Given the description of an element on the screen output the (x, y) to click on. 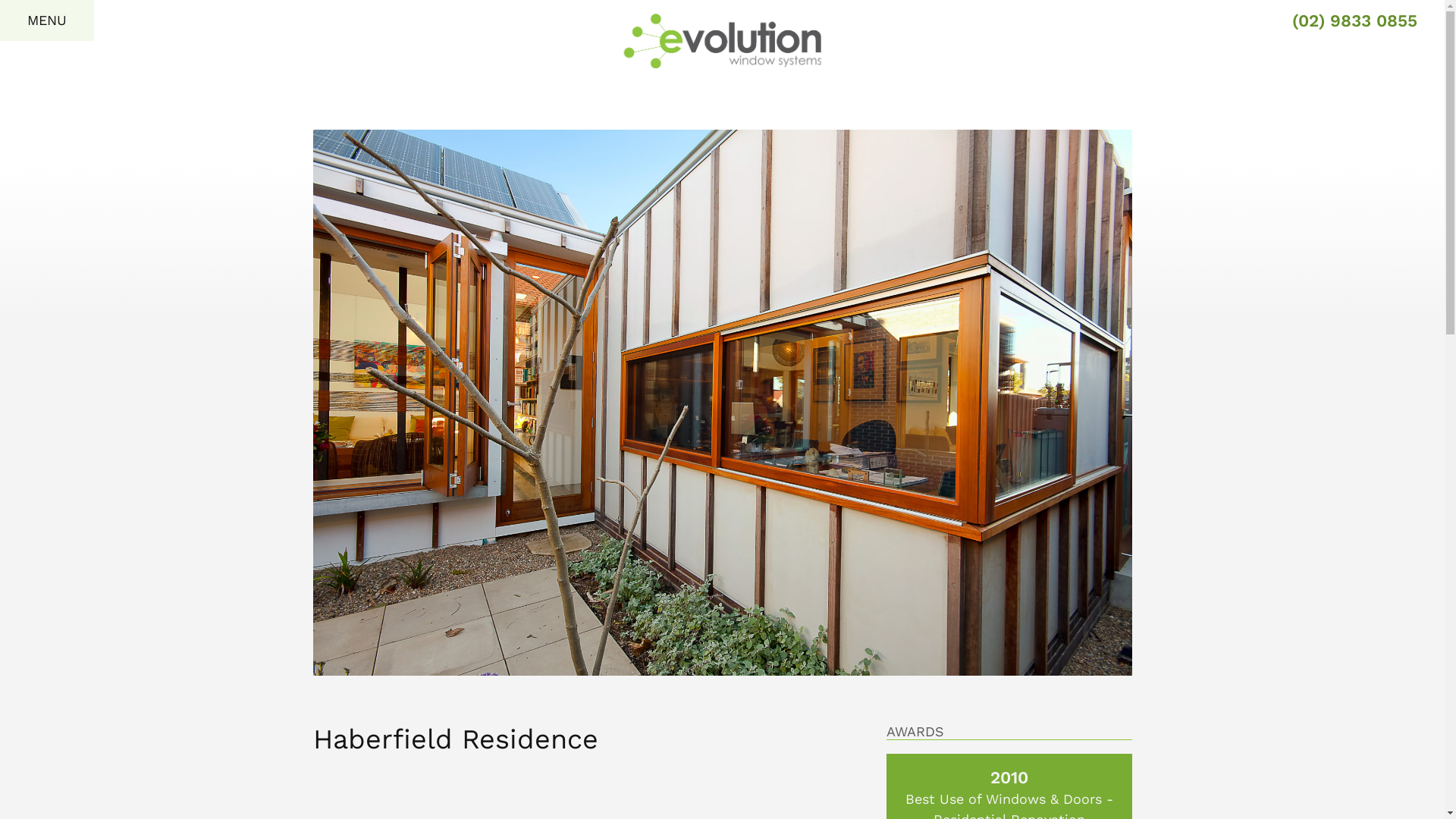
MENU Element type: text (47, 20)
(02) 9833 0855 Element type: text (1354, 20)
